Given the description of an element on the screen output the (x, y) to click on. 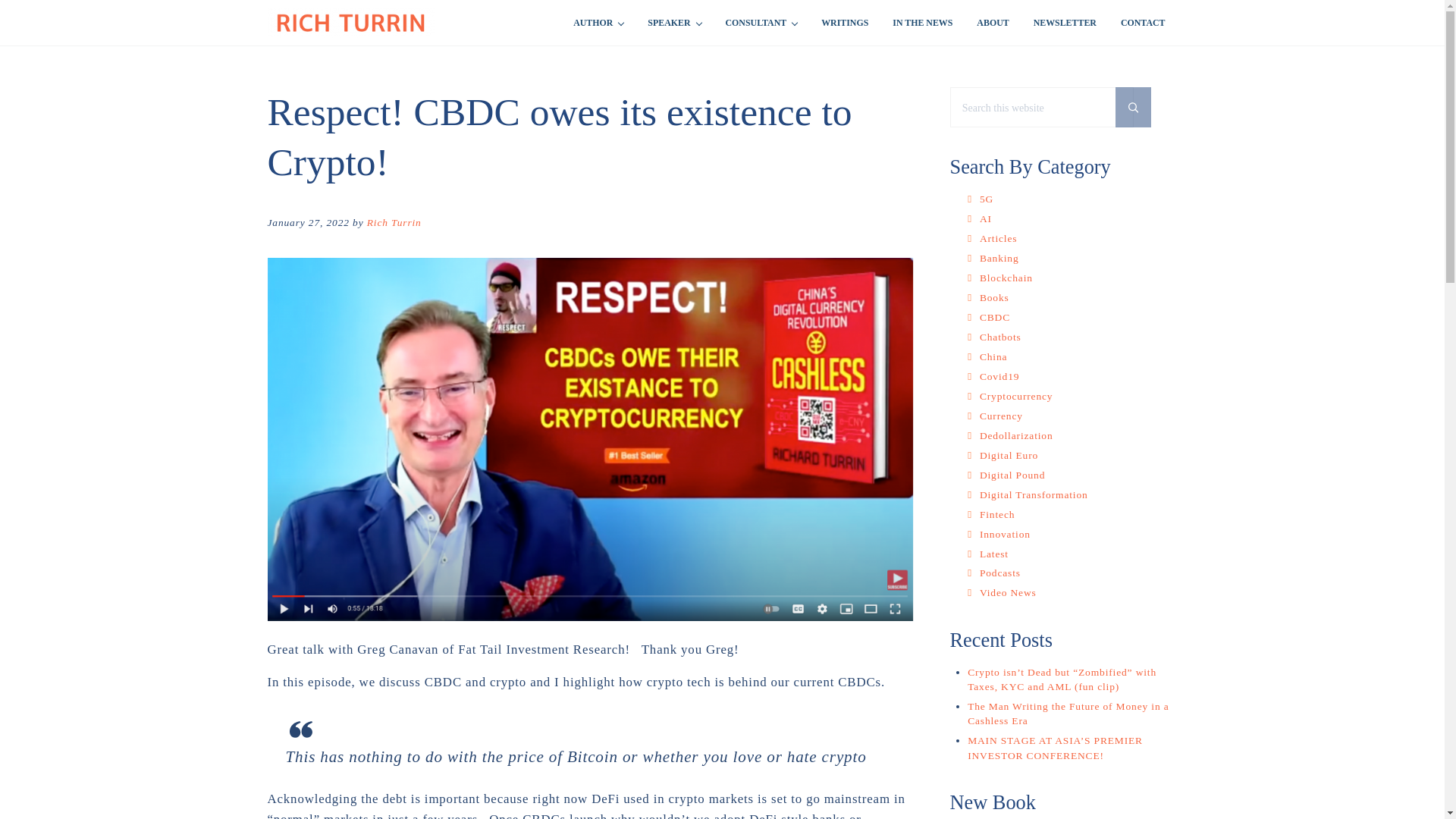
Covid19 (999, 376)
5G (985, 198)
Submit search (1133, 106)
CONTACT (1142, 22)
Articles (998, 238)
CONSULTANT (761, 22)
Rich Turrin (394, 222)
Banking (999, 257)
NEWSLETTER (1065, 22)
